Given the description of an element on the screen output the (x, y) to click on. 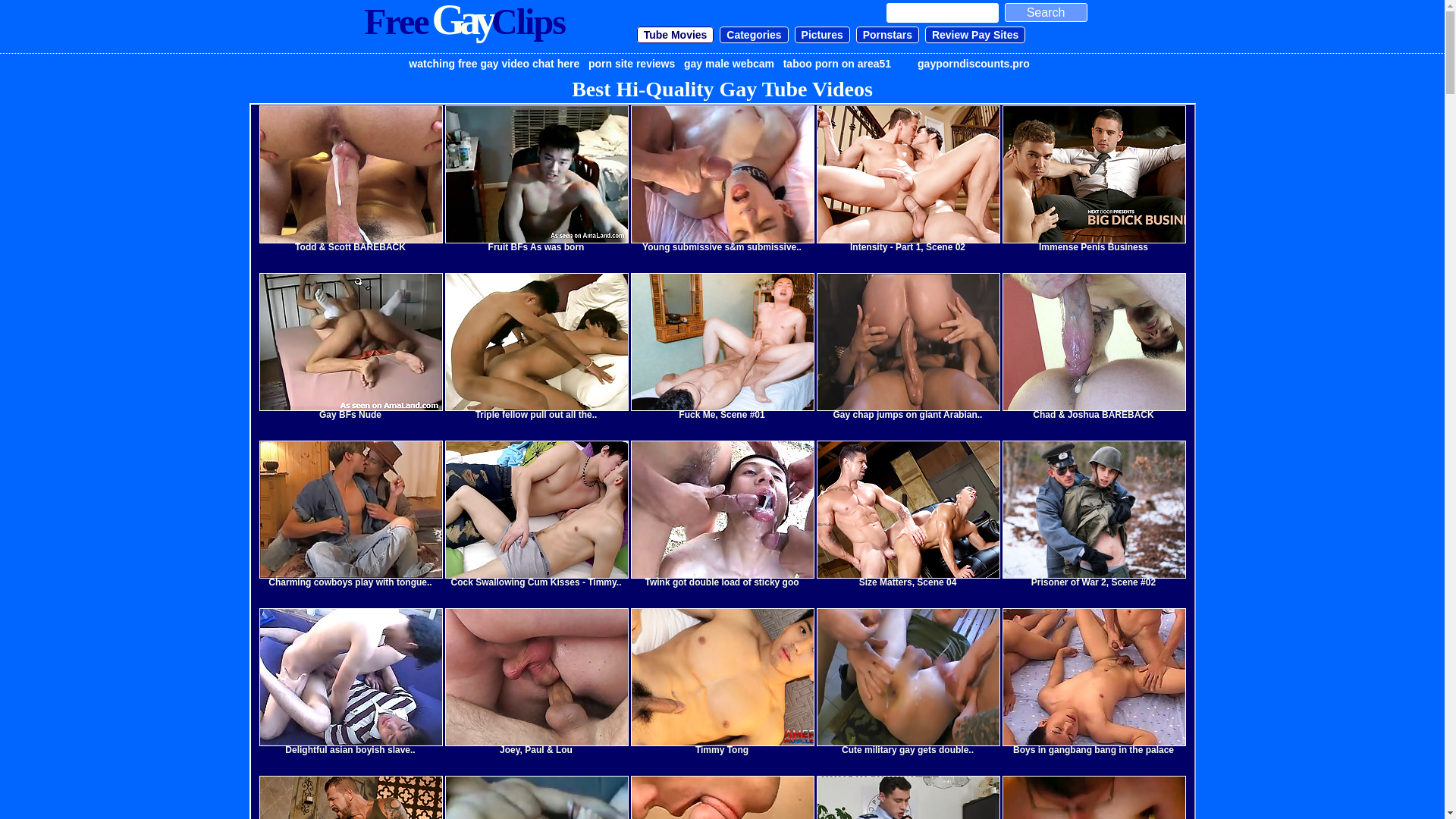
watching free gay video chat here Element type: text (493, 63)
Review Pay Sites Element type: text (975, 34)
Search Element type: text (1045, 12)
Categories Element type: text (753, 34)
gay male webcam Element type: text (729, 63)
taboo porn on area51 Element type: text (837, 63)
porn site reviews Element type: text (631, 63)
Pictures Element type: text (822, 34)
Pornstars Element type: text (887, 34)
gayporndiscounts.pro Element type: text (973, 63)
